Given the description of an element on the screen output the (x, y) to click on. 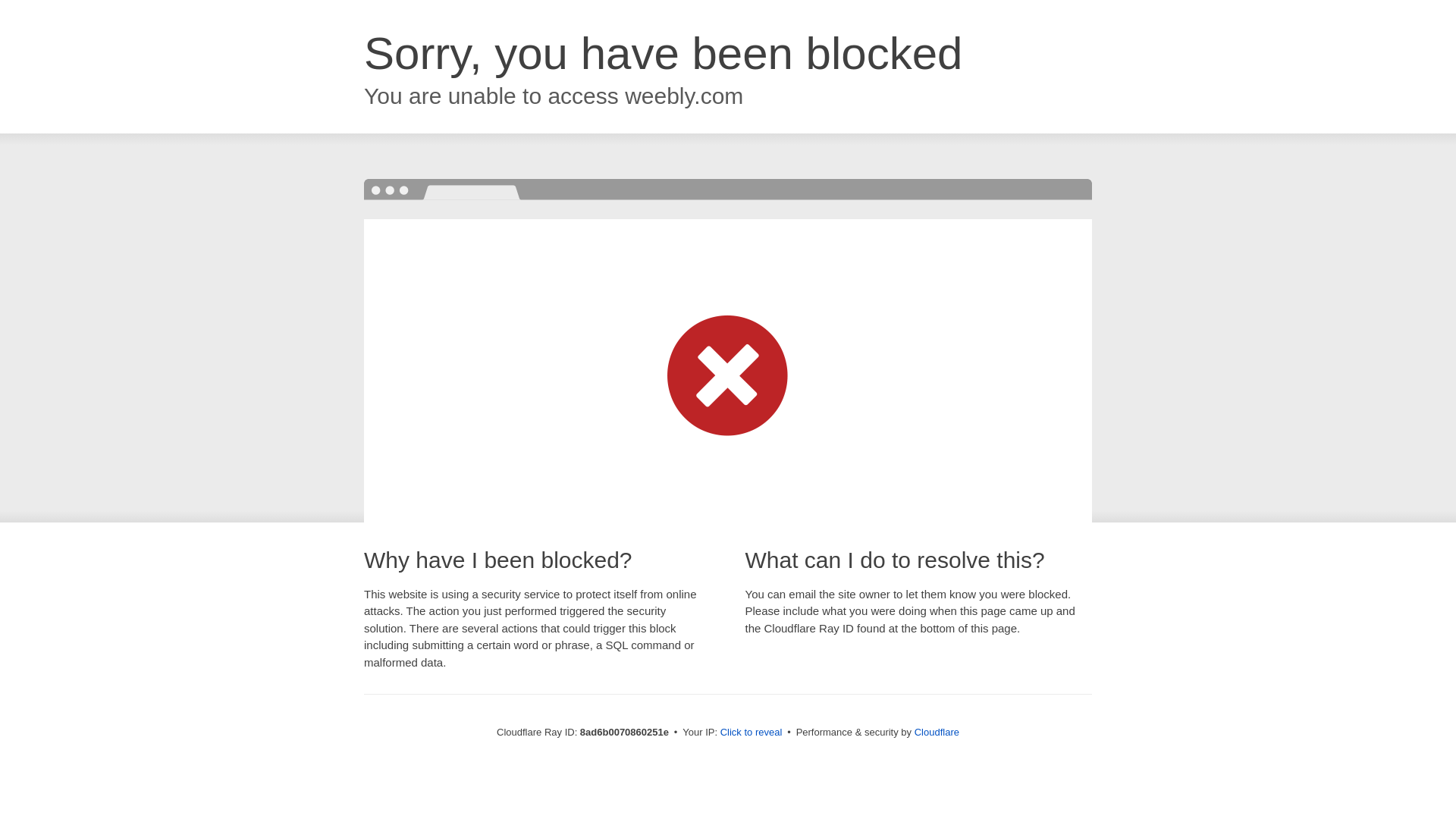
Cloudflare (936, 731)
Click to reveal (751, 732)
